Given the description of an element on the screen output the (x, y) to click on. 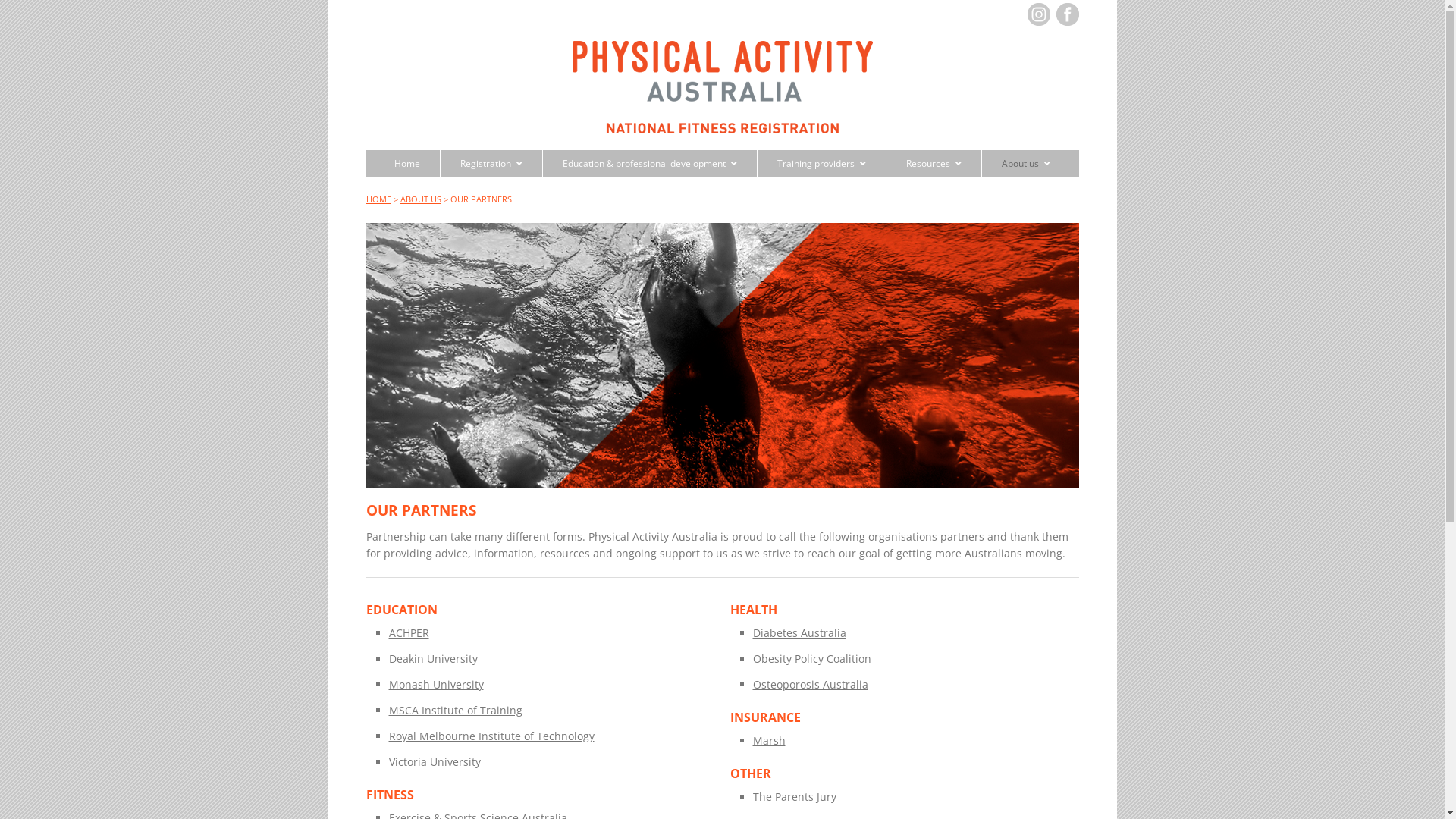
Facebook Element type: hover (1066, 7)
Physical Activity Australia Element type: hover (721, 120)
Victoria University Element type: text (434, 761)
Education & professional development Element type: text (649, 163)
About us Element type: text (1025, 163)
Instagram Element type: hover (1037, 7)
Home Element type: text (406, 163)
Registration Element type: text (490, 163)
MSCA Institute of Training Element type: text (454, 709)
The Parents Jury Element type: text (793, 796)
Osteoporosis Australia Element type: text (809, 684)
Royal Melbourne Institute of Technology Element type: text (490, 735)
HOME Element type: text (377, 198)
Obesity Policy Coalition Element type: text (811, 658)
Deakin University Element type: text (432, 658)
Marsh Element type: text (768, 740)
Search Element type: text (25, 12)
ACHPER Element type: text (408, 632)
ABOUT US Element type: text (420, 198)
Monash University Element type: text (435, 684)
Training providers Element type: text (820, 163)
Resources Element type: text (933, 163)
Diabetes Australia Element type: text (798, 632)
